Given the description of an element on the screen output the (x, y) to click on. 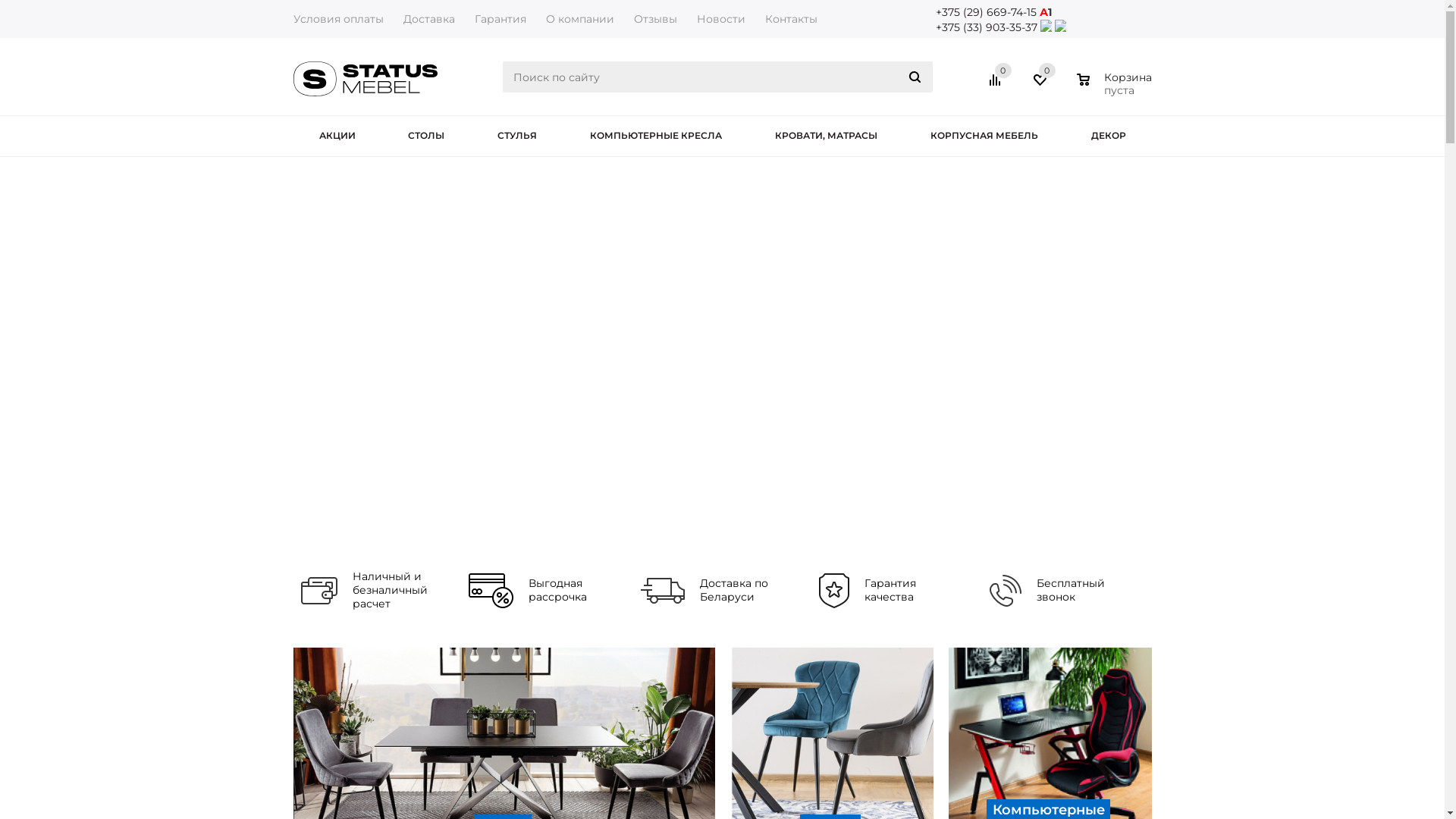
+375 (33) 903-35-37 Element type: text (986, 27)
info@statusmebel.by Element type: text (994, 42)
+375 (29) 669-74-15 Element type: text (985, 11)
